Given the description of an element on the screen output the (x, y) to click on. 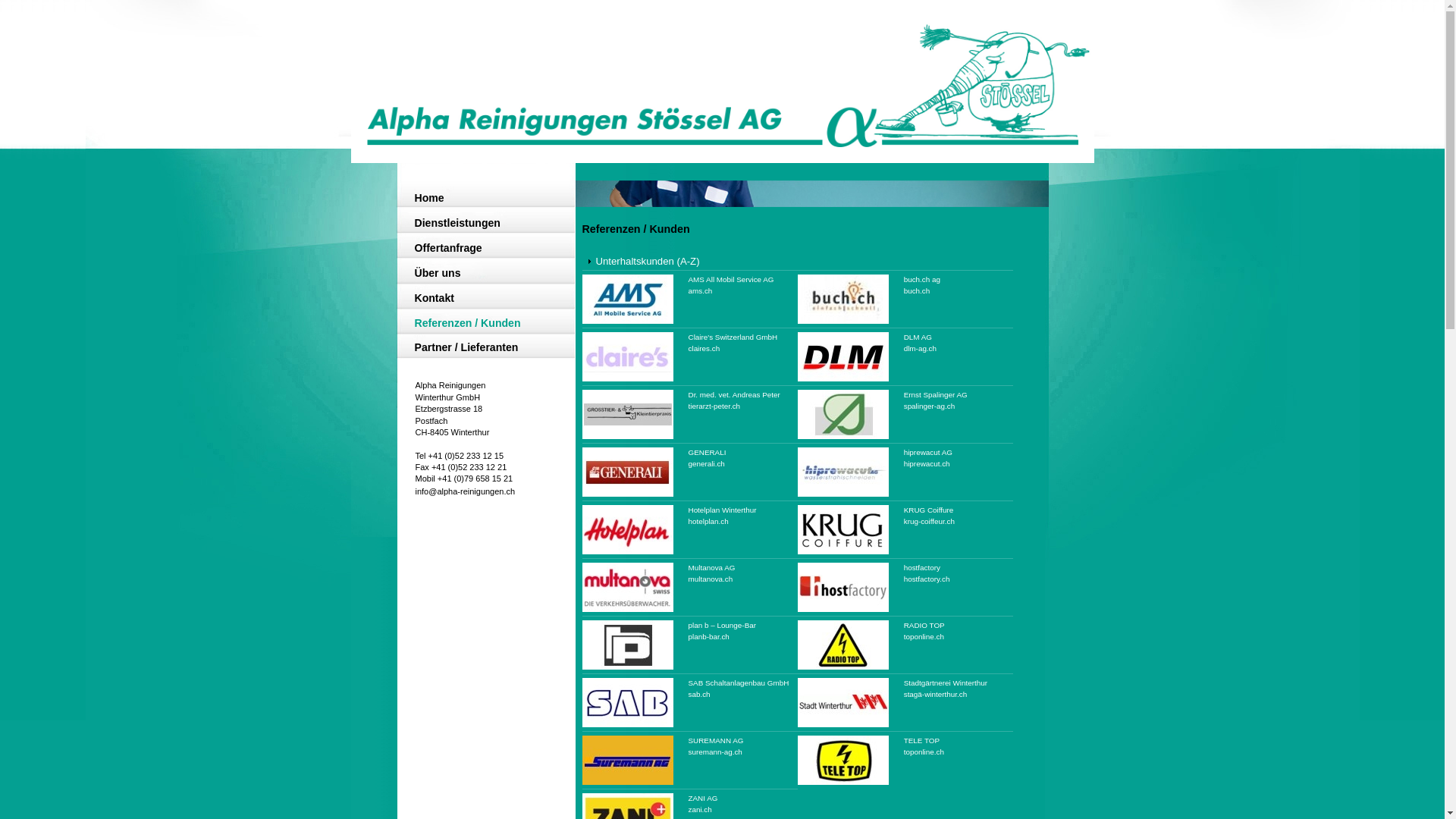
toponline.ch Element type: text (923, 751)
Partner / Lieferanten Element type: text (480, 348)
spalinger-ag.ch Element type: text (929, 405)
hiprewacut.ch Element type: text (926, 463)
Offertanfrage Element type: text (480, 249)
hostfactory.ch Element type: text (926, 578)
info@alpha-reinigungen.ch Element type: text (465, 490)
toponline.ch Element type: text (923, 636)
Home Element type: text (480, 199)
Referenzen / Kunden Element type: text (480, 324)
ams.ch Element type: text (700, 290)
dlm-ag.ch Element type: text (919, 348)
generali.ch Element type: text (706, 463)
krug-coiffeur.ch Element type: text (928, 521)
buch.ch Element type: text (916, 290)
claires.ch Element type: text (704, 348)
Dienstleistungen Element type: text (480, 224)
tierarzt-peter.ch Element type: text (714, 405)
planb-bar.ch Element type: text (708, 636)
sab.ch Element type: text (699, 694)
hotelplan.ch Element type: text (708, 521)
multanova.ch Element type: text (710, 578)
zani.ch Element type: text (700, 809)
suremann-ag.ch Element type: text (715, 751)
Kontakt Element type: text (480, 299)
